Given the description of an element on the screen output the (x, y) to click on. 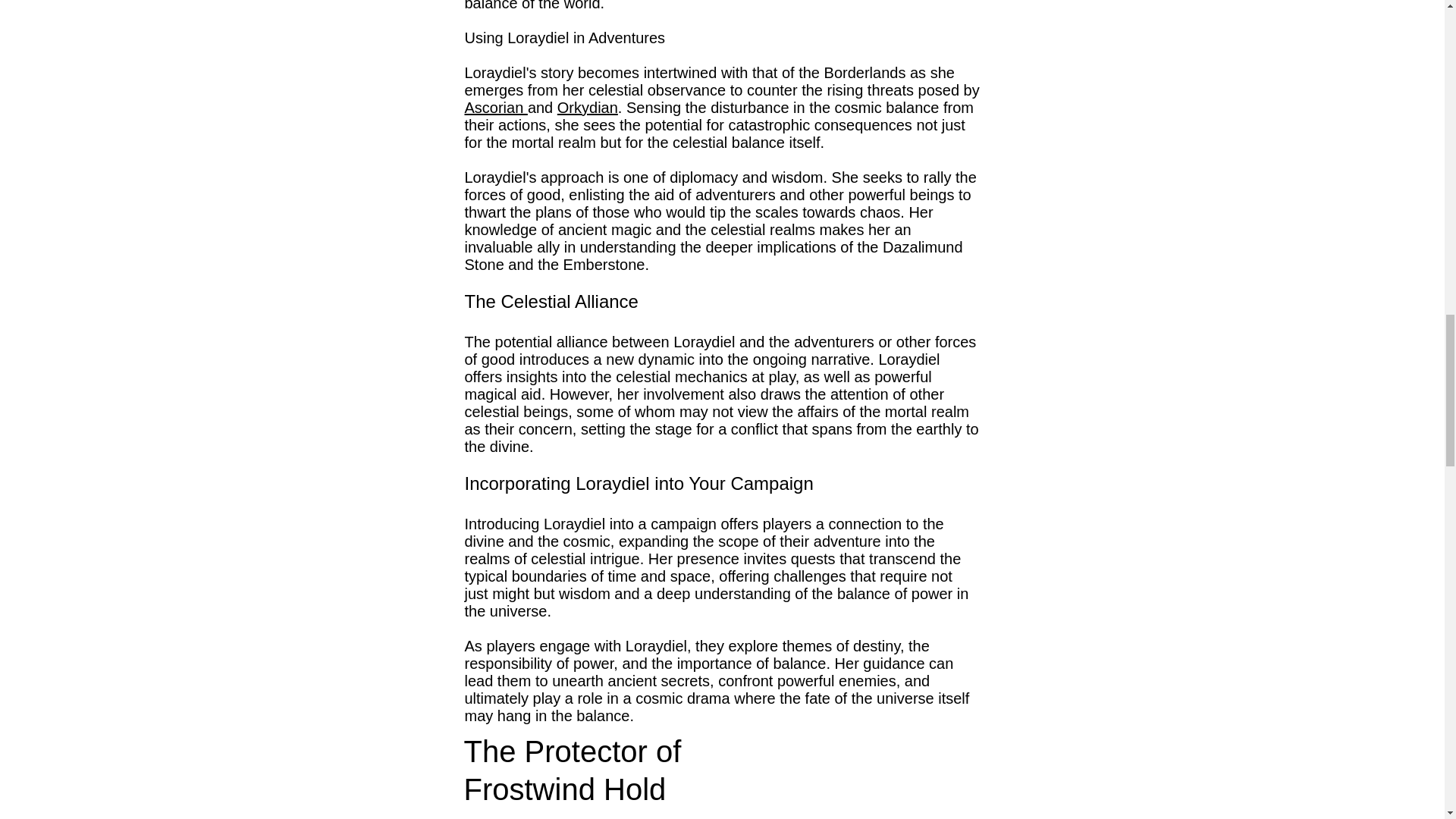
Orkydian (587, 107)
Ascorian (495, 107)
